Given the description of an element on the screen output the (x, y) to click on. 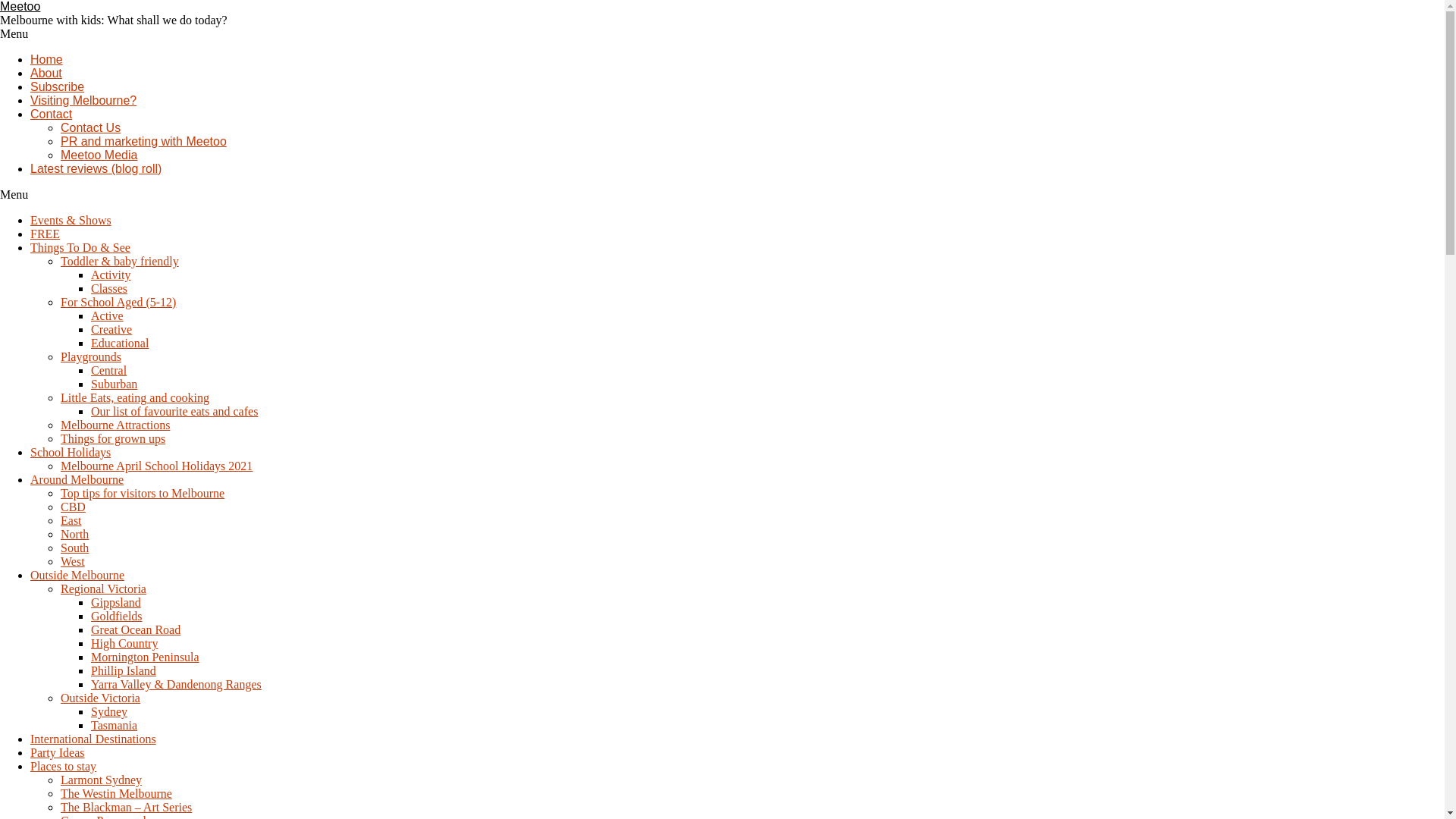
Visiting Melbourne? Element type: text (83, 100)
Things To Do & See Element type: text (80, 247)
Things for grown ups Element type: text (112, 438)
School Holidays Element type: text (70, 451)
East Element type: text (70, 520)
Phillip Island Element type: text (123, 670)
Events & Shows Element type: text (70, 219)
Places to stay Element type: text (63, 765)
PR and marketing with Meetoo Element type: text (143, 140)
Melbourne April School Holidays 2021 Element type: text (156, 465)
Playgrounds Element type: text (90, 356)
Home Element type: text (46, 59)
Central Element type: text (108, 370)
About Element type: text (46, 72)
International Destinations Element type: text (93, 738)
Yarra Valley & Dandenong Ranges Element type: text (176, 683)
Mornington Peninsula Element type: text (145, 656)
The Westin Melbourne Element type: text (116, 793)
Creative Element type: text (111, 329)
Our list of favourite eats and cafes Element type: text (174, 410)
South Element type: text (74, 547)
Tasmania Element type: text (114, 724)
Classes Element type: text (109, 288)
Activity Element type: text (110, 274)
FREE Element type: text (44, 233)
For School Aged (5-12) Element type: text (117, 301)
Contact Us Element type: text (90, 127)
Great Ocean Road Element type: text (135, 629)
Active Element type: text (107, 315)
Gippsland Element type: text (116, 602)
Outside Melbourne Element type: text (77, 574)
Top tips for visitors to Melbourne Element type: text (142, 492)
West Element type: text (72, 561)
Subscribe Element type: text (57, 86)
Melbourne Attractions Element type: text (114, 424)
Little Eats, eating and cooking Element type: text (134, 397)
Contact Element type: text (51, 113)
High Country Element type: text (124, 643)
Educational Element type: text (119, 342)
Regional Victoria Element type: text (103, 588)
Toddler & baby friendly Element type: text (119, 260)
Meetoo Media Element type: text (98, 154)
Goldfields Element type: text (116, 615)
Latest reviews (blog roll) Element type: text (95, 168)
Larmont Sydney Element type: text (100, 779)
CBD Element type: text (72, 506)
Party Ideas Element type: text (57, 752)
Meetoo Element type: text (20, 6)
Outside Victoria Element type: text (100, 697)
Suburban Element type: text (114, 383)
Sydney Element type: text (109, 711)
Around Melbourne Element type: text (76, 479)
North Element type: text (74, 533)
